Given the description of an element on the screen output the (x, y) to click on. 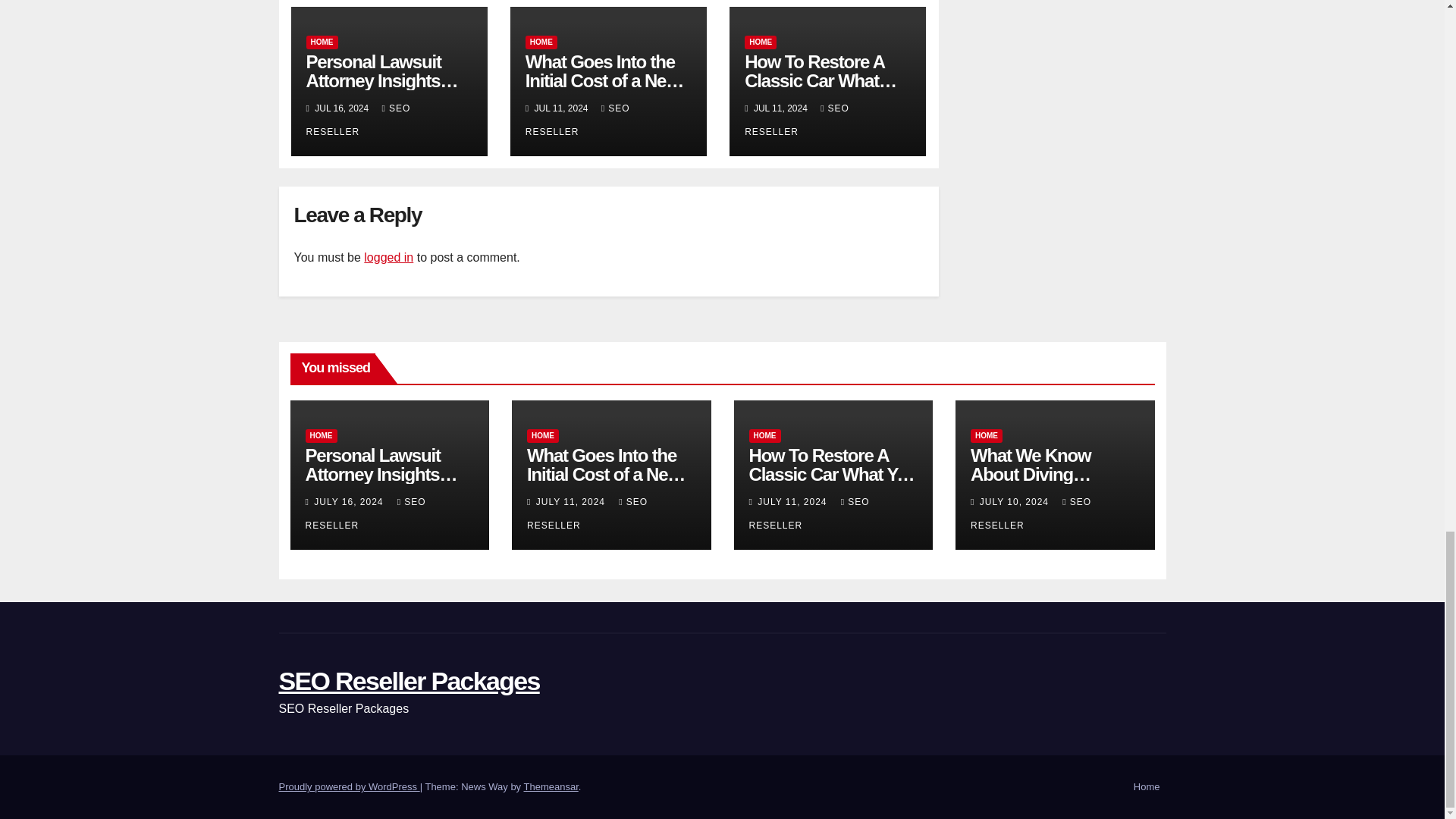
HOME (541, 42)
What Goes Into the Initial Cost of a New Business? (604, 80)
HOME (320, 436)
SEO RESELLER (796, 120)
Home (1146, 786)
SEO RESELLER (357, 120)
HOME (760, 42)
SEO RESELLER (577, 120)
logged in (388, 256)
HOME (321, 42)
